Given the description of an element on the screen output the (x, y) to click on. 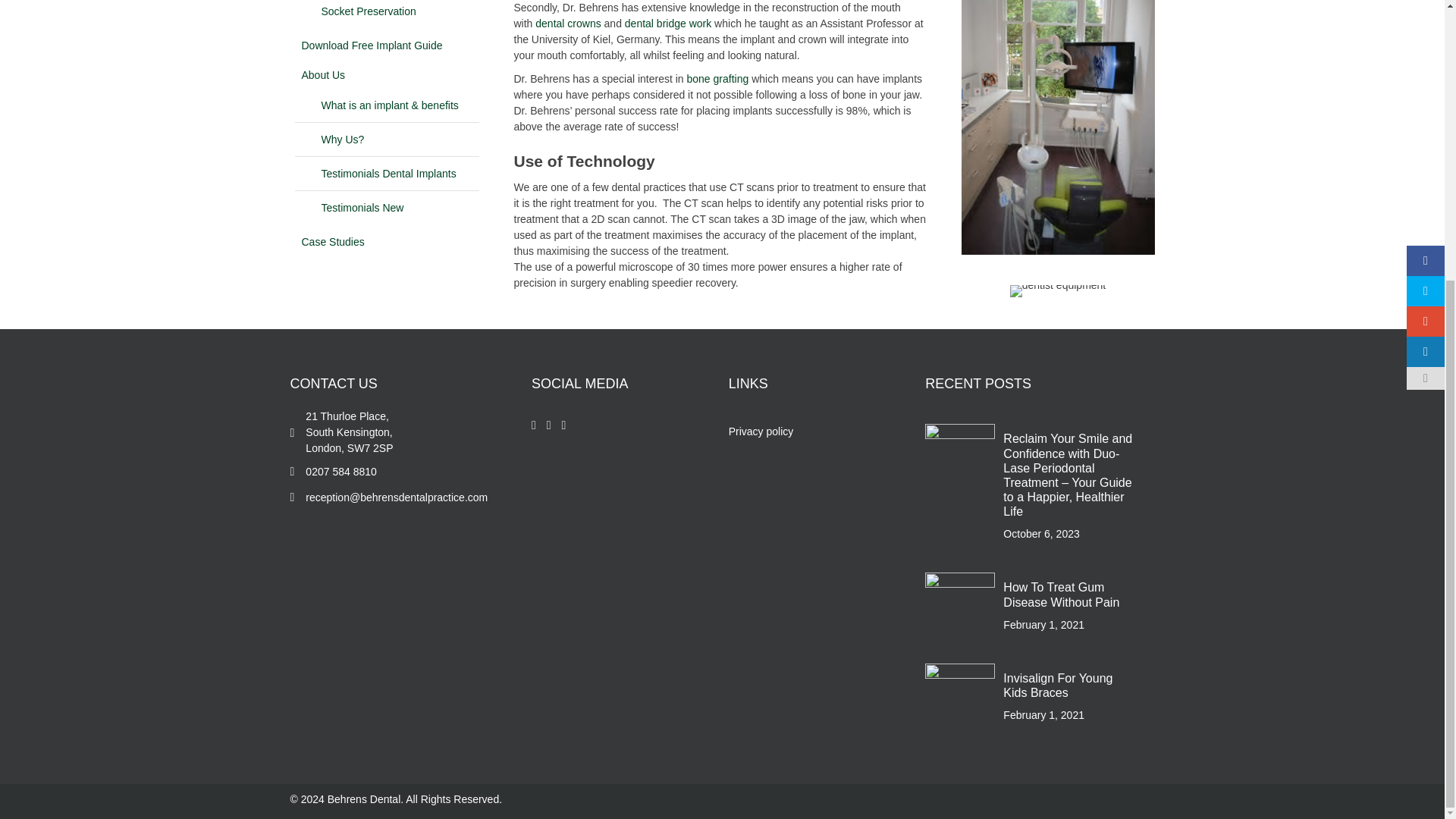
Invisalign For Young Kids Braces (959, 697)
Invisalign For Young Kids Braces (1057, 685)
How To Treat Gum Disease Without Pain (959, 606)
How To Treat Gum Disease Without Pain (1061, 594)
table (1058, 291)
